Given the description of an element on the screen output the (x, y) to click on. 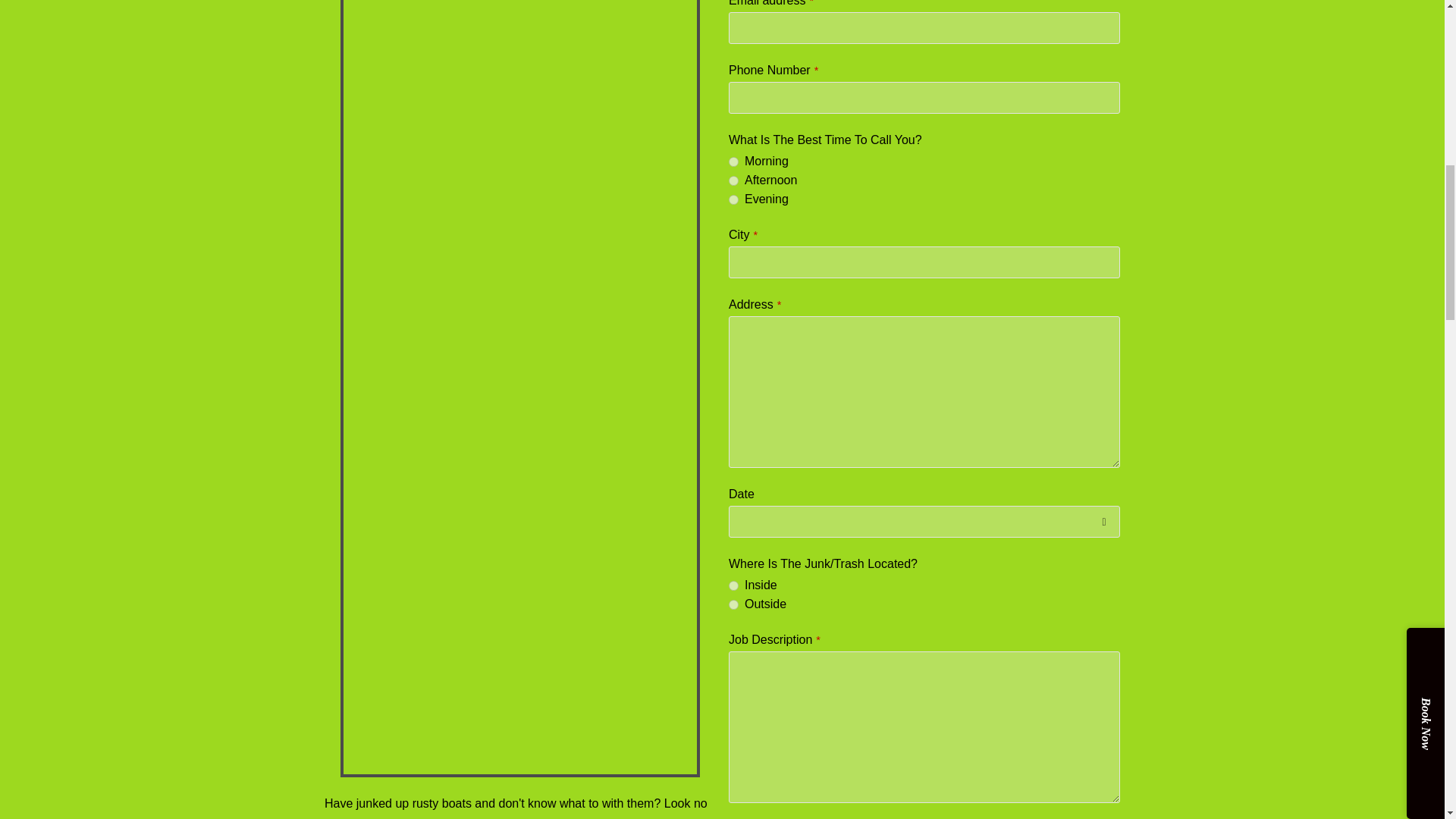
Morning (733, 162)
Evening (733, 199)
Outside (733, 604)
Inside (733, 585)
Afternoon (733, 180)
